Given the description of an element on the screen output the (x, y) to click on. 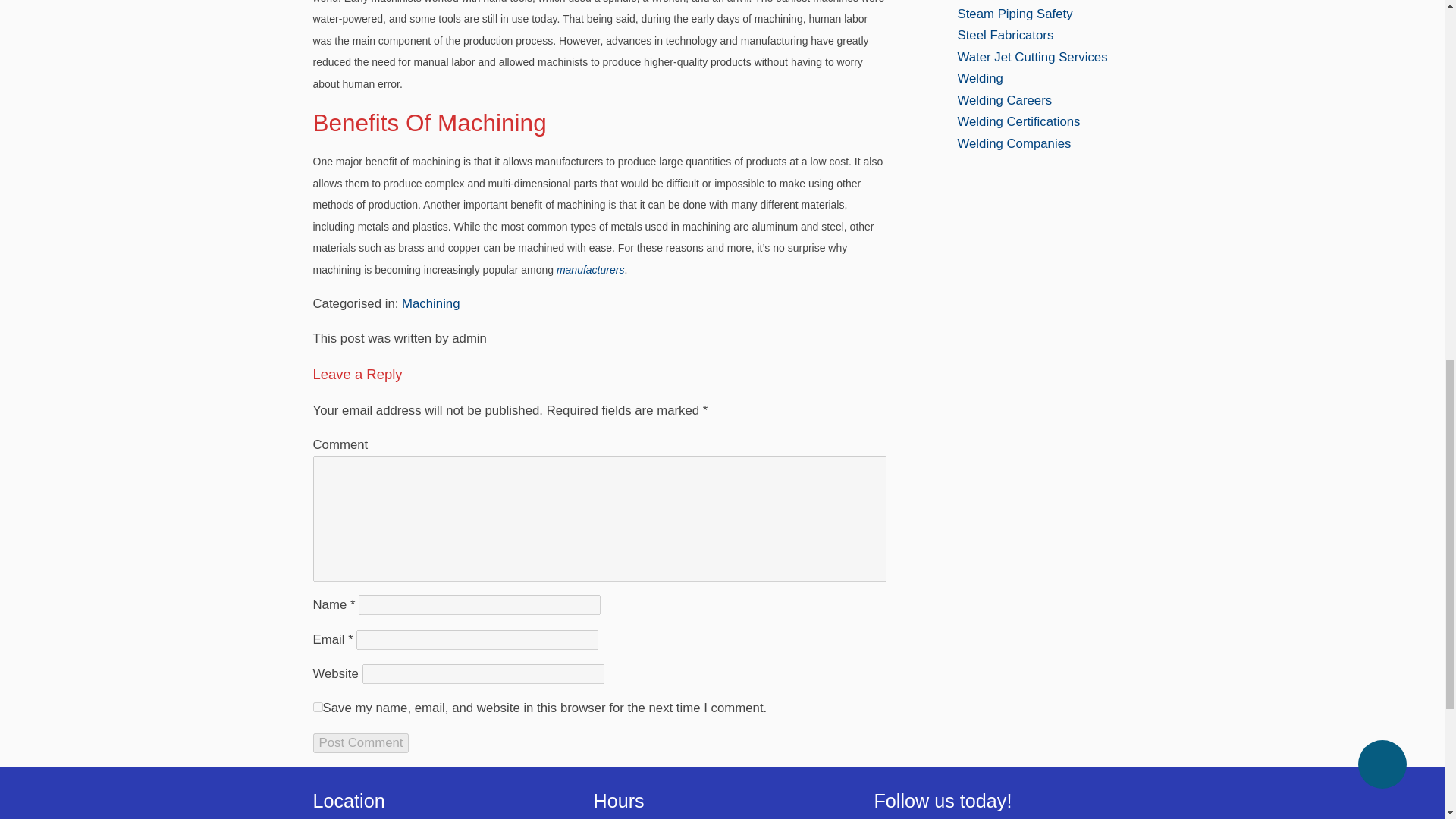
Steam Piping Safety (1013, 13)
yes (317, 706)
Post Comment (361, 742)
manufacturers (590, 269)
Post Comment (361, 742)
Machining (430, 303)
